Given the description of an element on the screen output the (x, y) to click on. 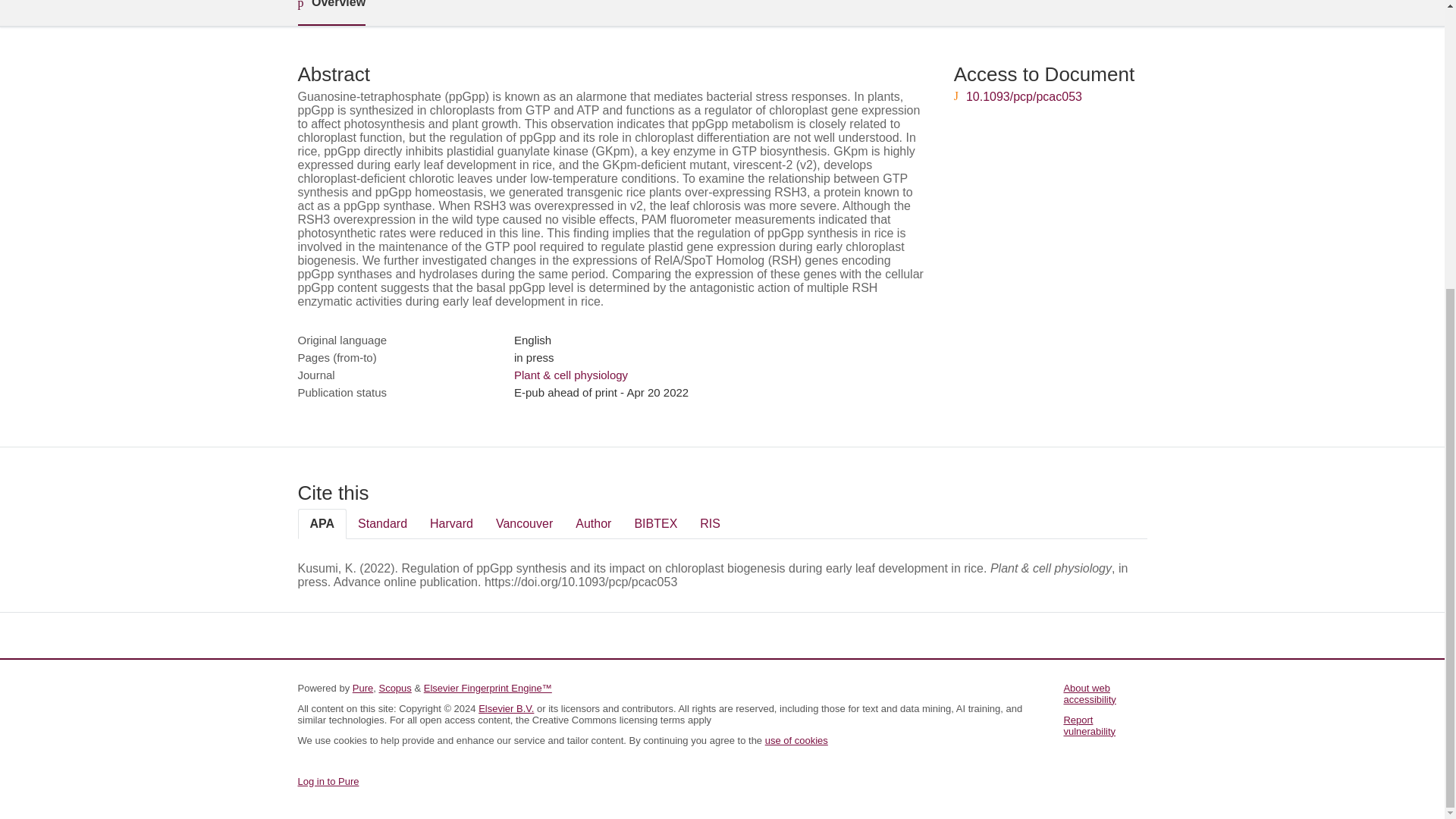
use of cookies (796, 740)
Report vulnerability (1088, 725)
Pure (362, 687)
Scopus (394, 687)
About web accessibility (1088, 693)
Log in to Pure (327, 781)
Elsevier B.V. (506, 708)
Overview (331, 12)
